Given the description of an element on the screen output the (x, y) to click on. 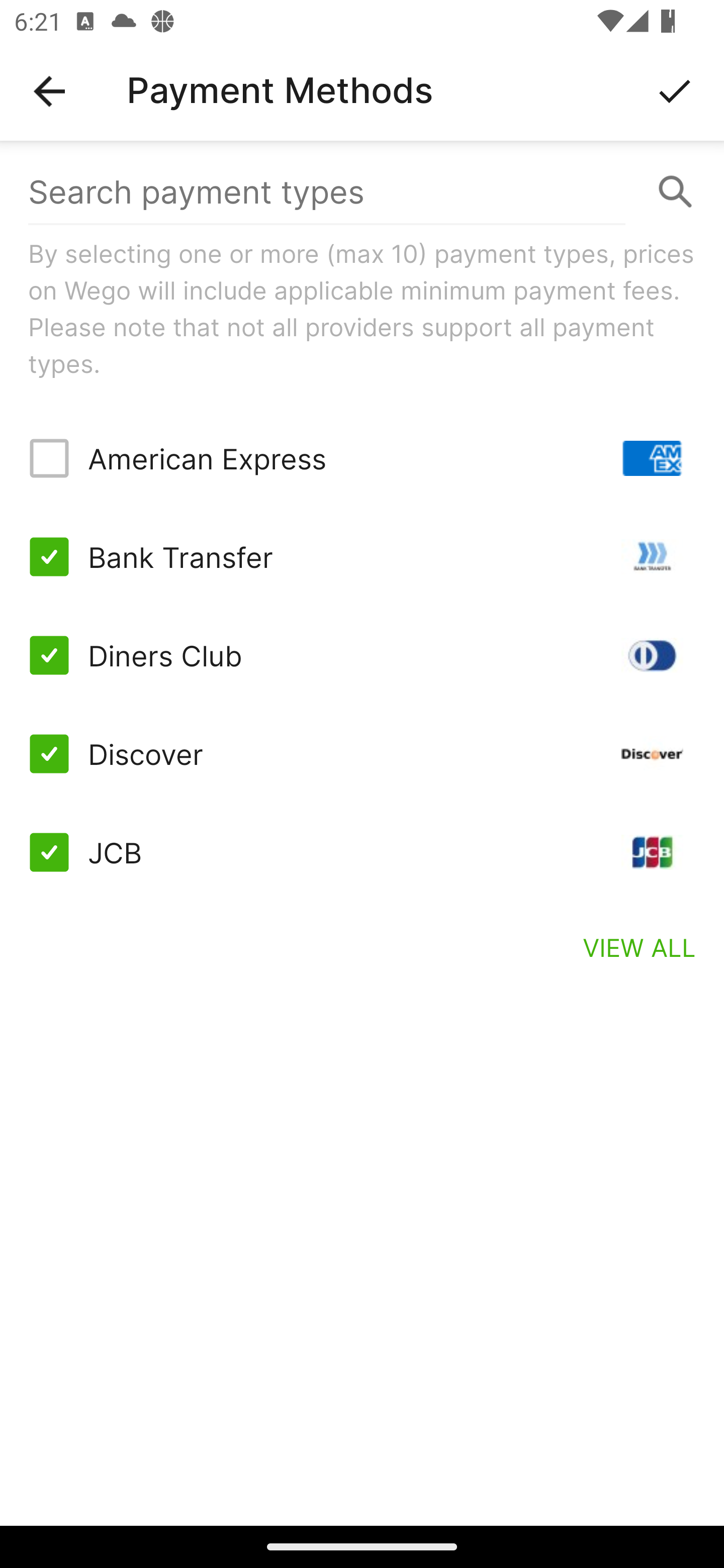
Search payment types  (361, 191)
American Express (362, 458)
Bank Transfer (362, 557)
Diners Club (362, 655)
Discover (362, 753)
JCB (362, 851)
VIEW ALL (639, 946)
